Given the description of an element on the screen output the (x, y) to click on. 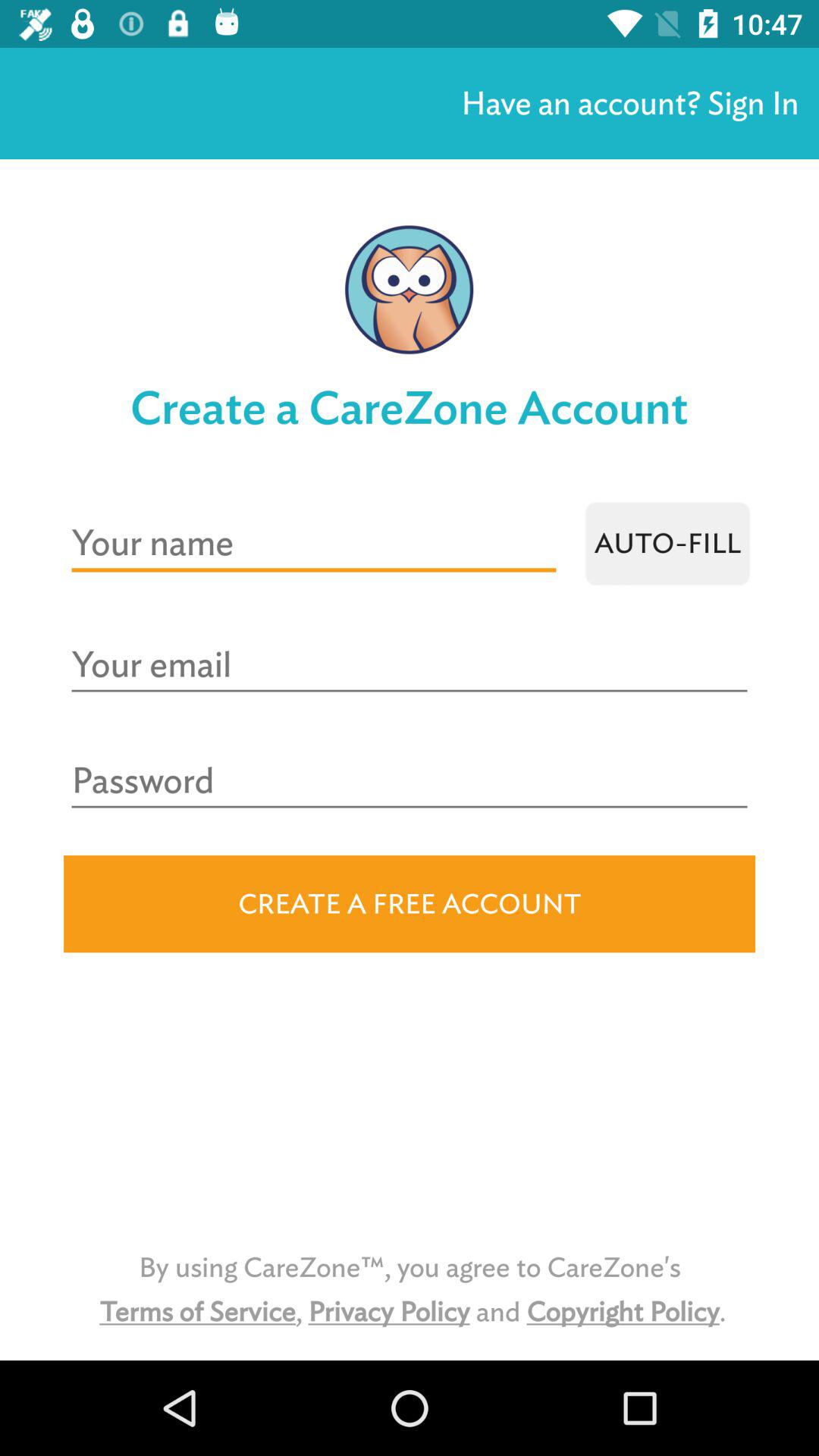
press the auto-fill on the right (667, 543)
